Given the description of an element on the screen output the (x, y) to click on. 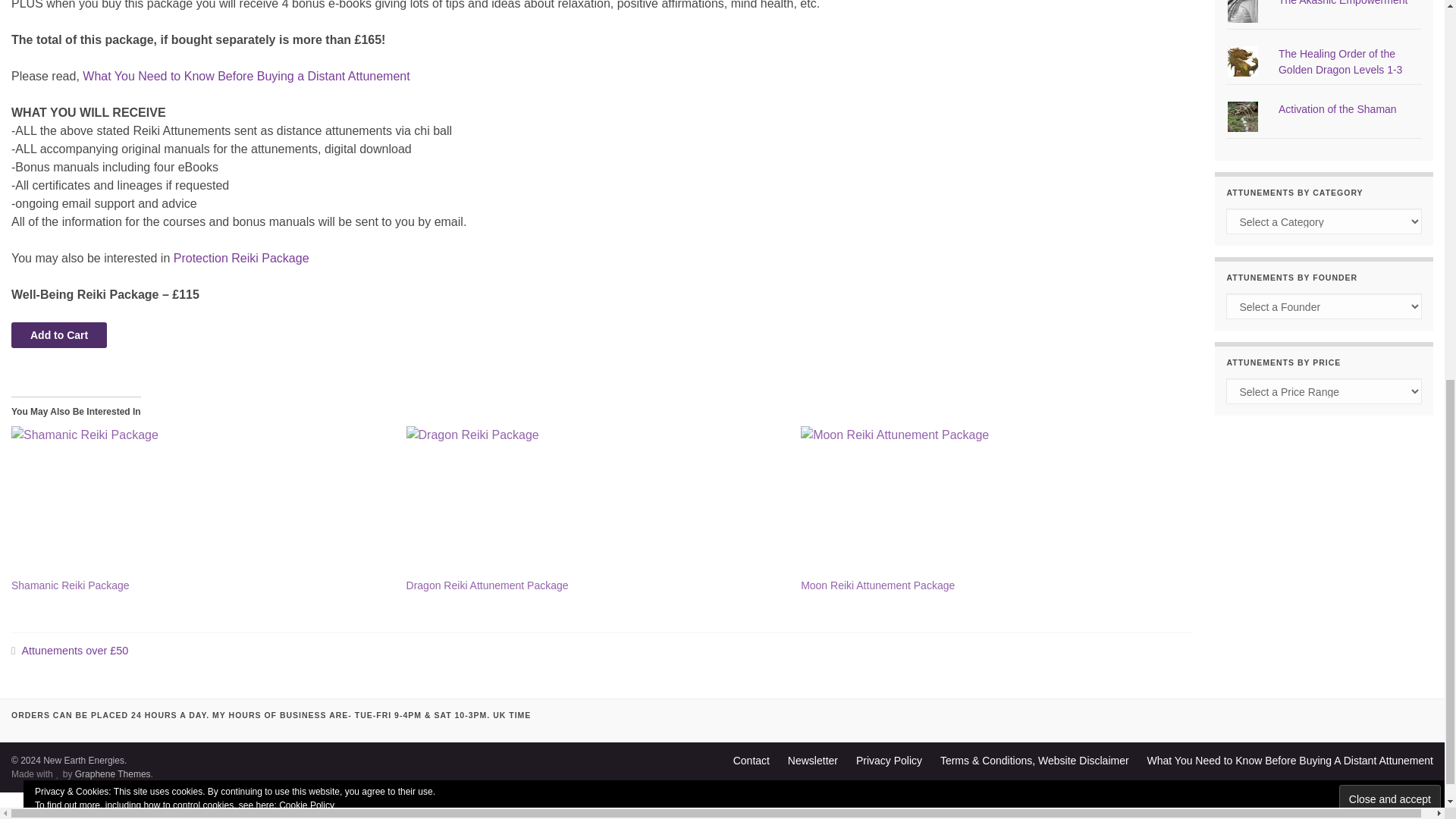
Dragon Reiki Attunement Package (487, 585)
Dragon Reiki Attunement Package (596, 501)
Shamanic Reiki Package (201, 501)
Moon Reiki Attunement Package (877, 585)
Shamanic Reiki Package (70, 585)
Add to Cart (58, 335)
Moon Reiki Attunement Package (990, 501)
Close and accept (1390, 799)
